Given the description of an element on the screen output the (x, y) to click on. 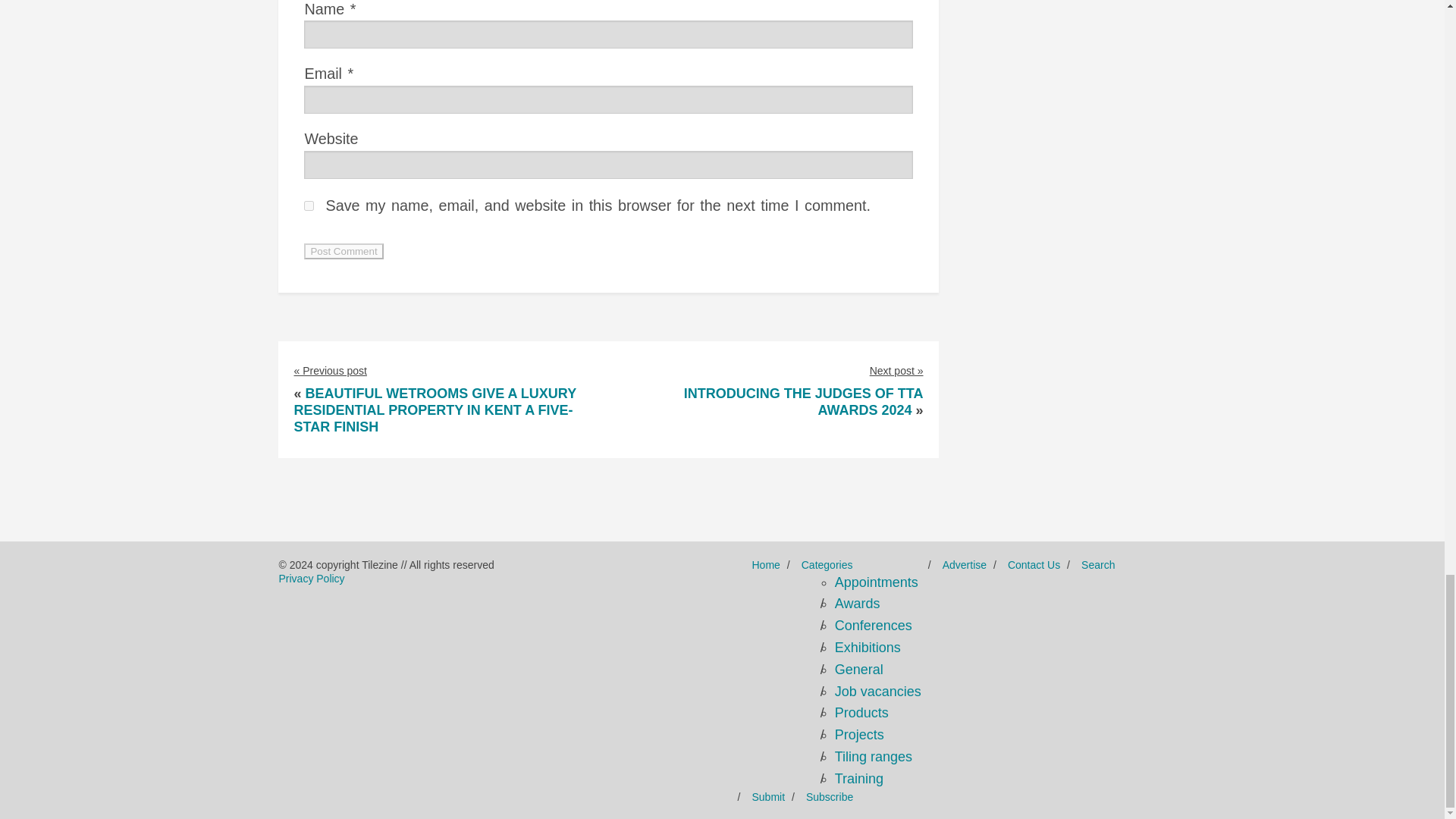
Post Comment (343, 251)
yes (309, 205)
Post Comment (343, 251)
INTRODUCING THE JUDGES OF TTA AWARDS 2024 (803, 401)
Privacy Policy (310, 578)
